Given the description of an element on the screen output the (x, y) to click on. 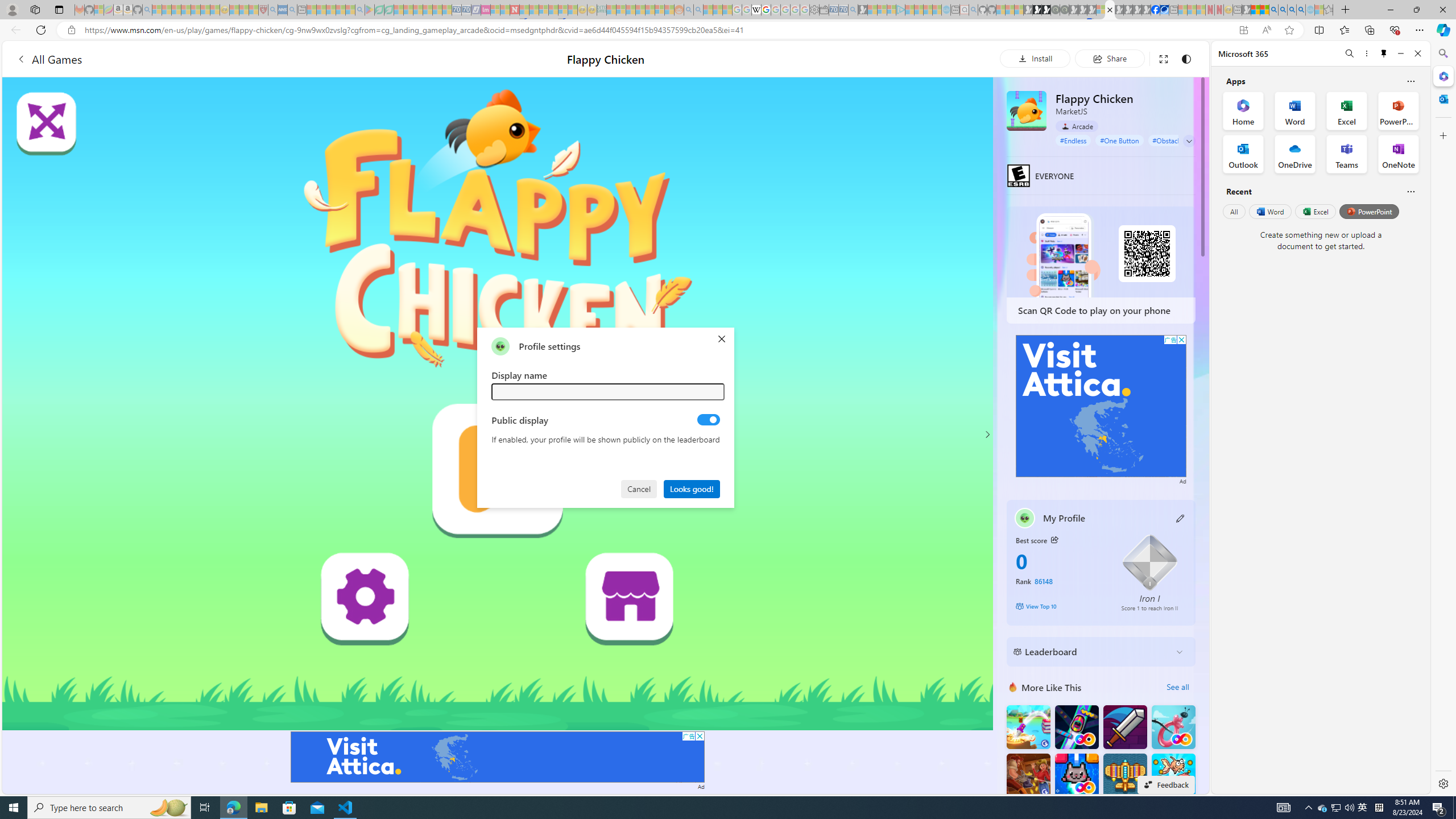
View site information (70, 29)
Trusted Community Engagement and Contributions | Guidelines (524, 9)
Side bar (1443, 418)
Sign in to your account - Sleeping (1100, 9)
Minimize (1401, 53)
Pets - MSN - Sleeping (340, 9)
Settings (1442, 783)
Leaderboard (1091, 651)
Class: text-input (608, 391)
